Given the description of an element on the screen output the (x, y) to click on. 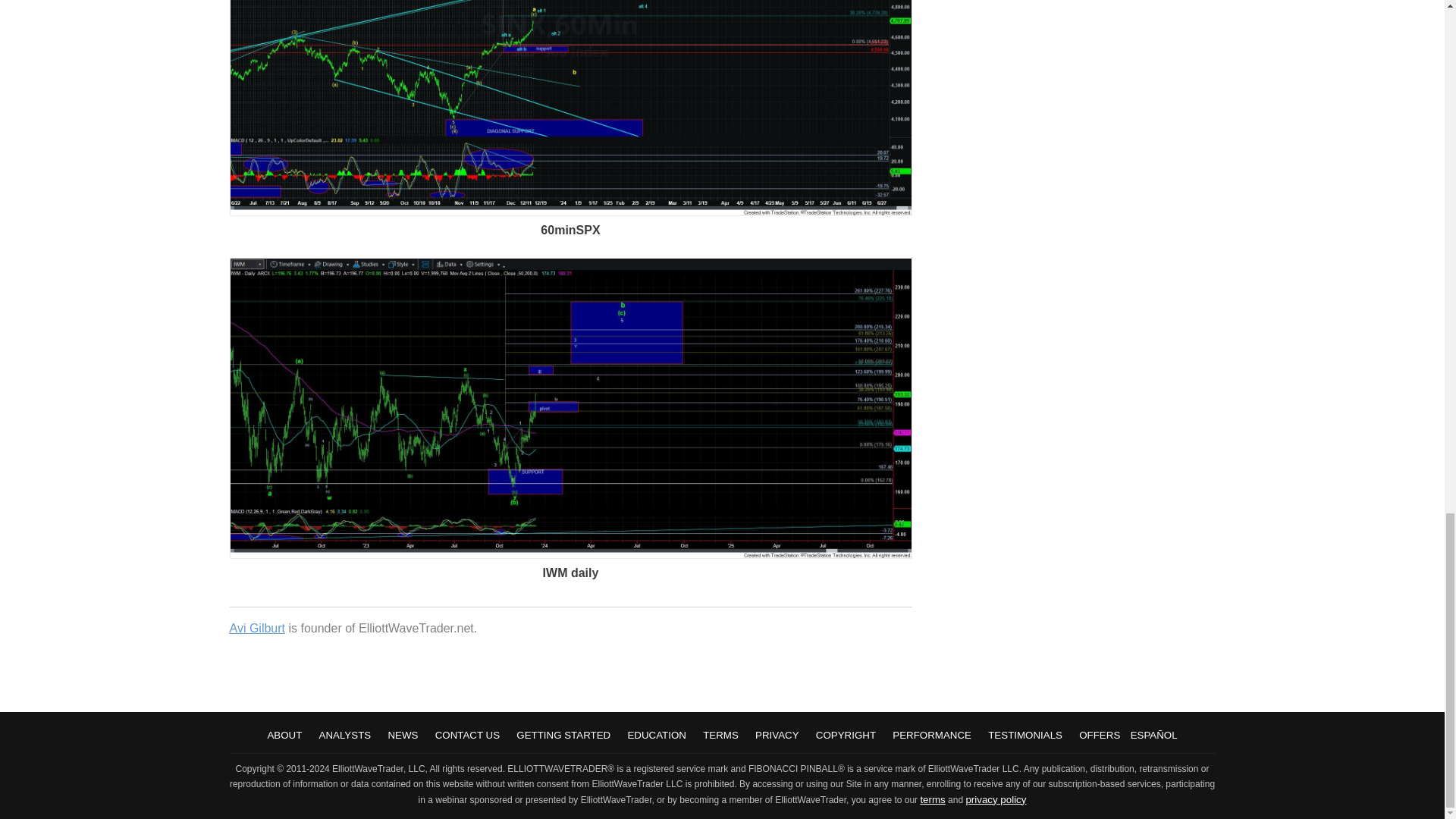
PRIVACY (777, 735)
GETTING STARTED (563, 735)
Click to Enlarge (569, 554)
ANALYSTS (344, 735)
NEWS (402, 735)
COPYRIGHT (845, 735)
PERFORMANCE (931, 735)
Avi Gilburt (256, 627)
EDUCATION (656, 735)
TESTIMONIALS (1025, 735)
ABOUT (283, 735)
CONTACT US (467, 735)
Click to Enlarge (569, 211)
TERMS (720, 735)
